Given the description of an element on the screen output the (x, y) to click on. 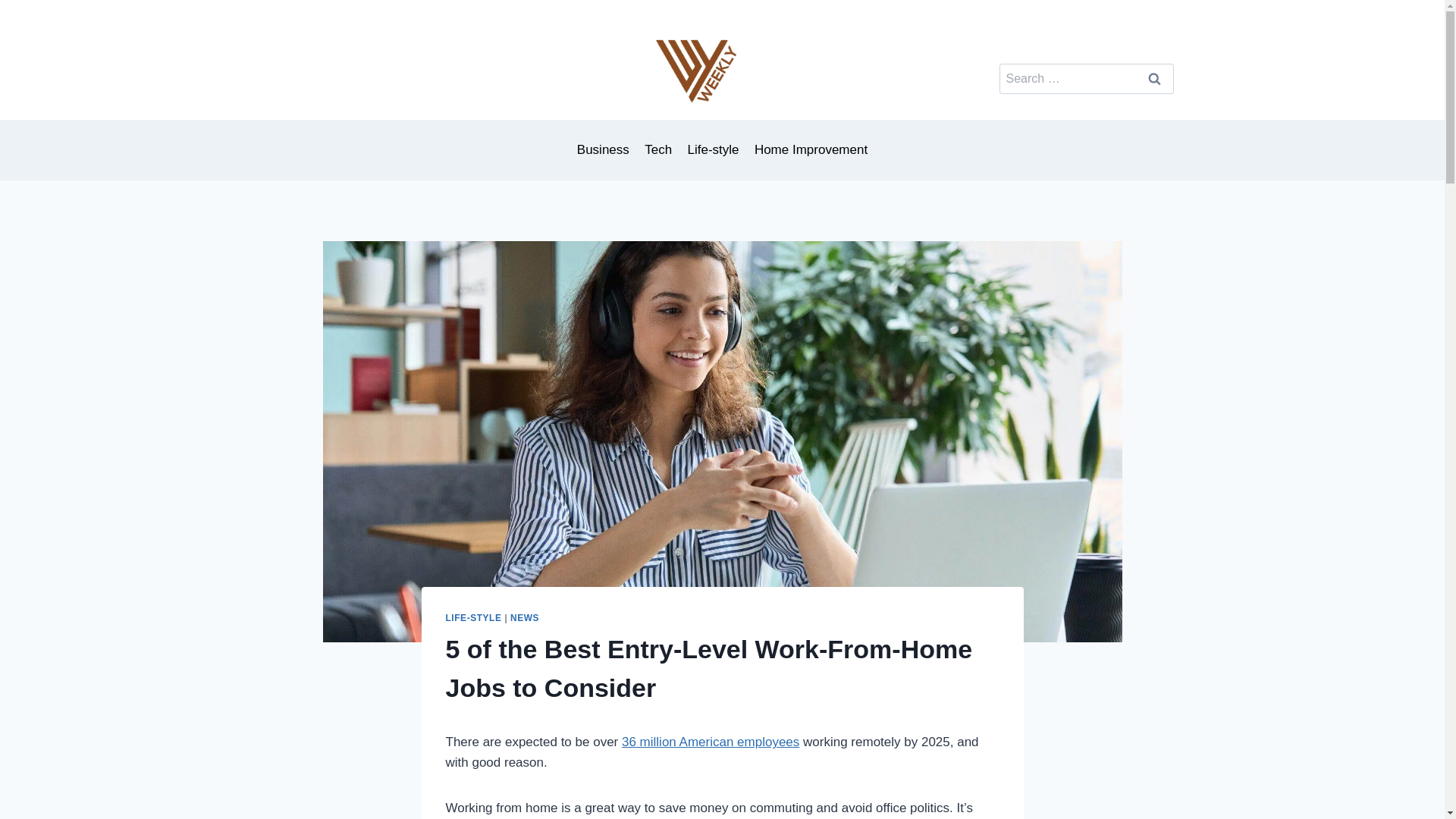
Tech (658, 149)
36 million American employees (710, 741)
Search (1154, 78)
NEWS (524, 617)
Search (1154, 78)
Search (1154, 78)
Home Improvement (811, 149)
Life-style (712, 149)
Business (603, 149)
LIFE-STYLE (473, 617)
